Given the description of an element on the screen output the (x, y) to click on. 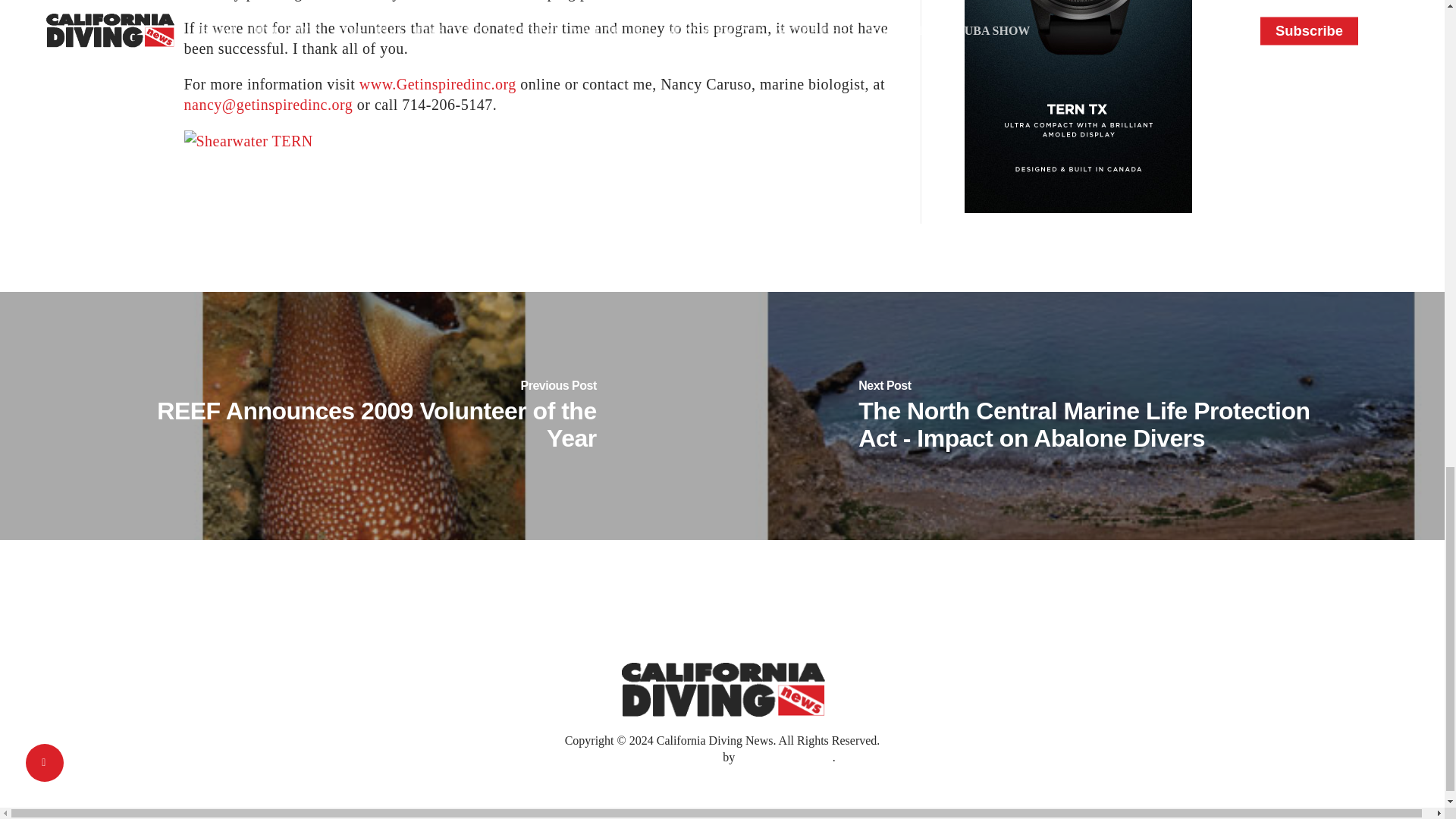
www.Getinspiredinc.org (437, 84)
